Given the description of an element on the screen output the (x, y) to click on. 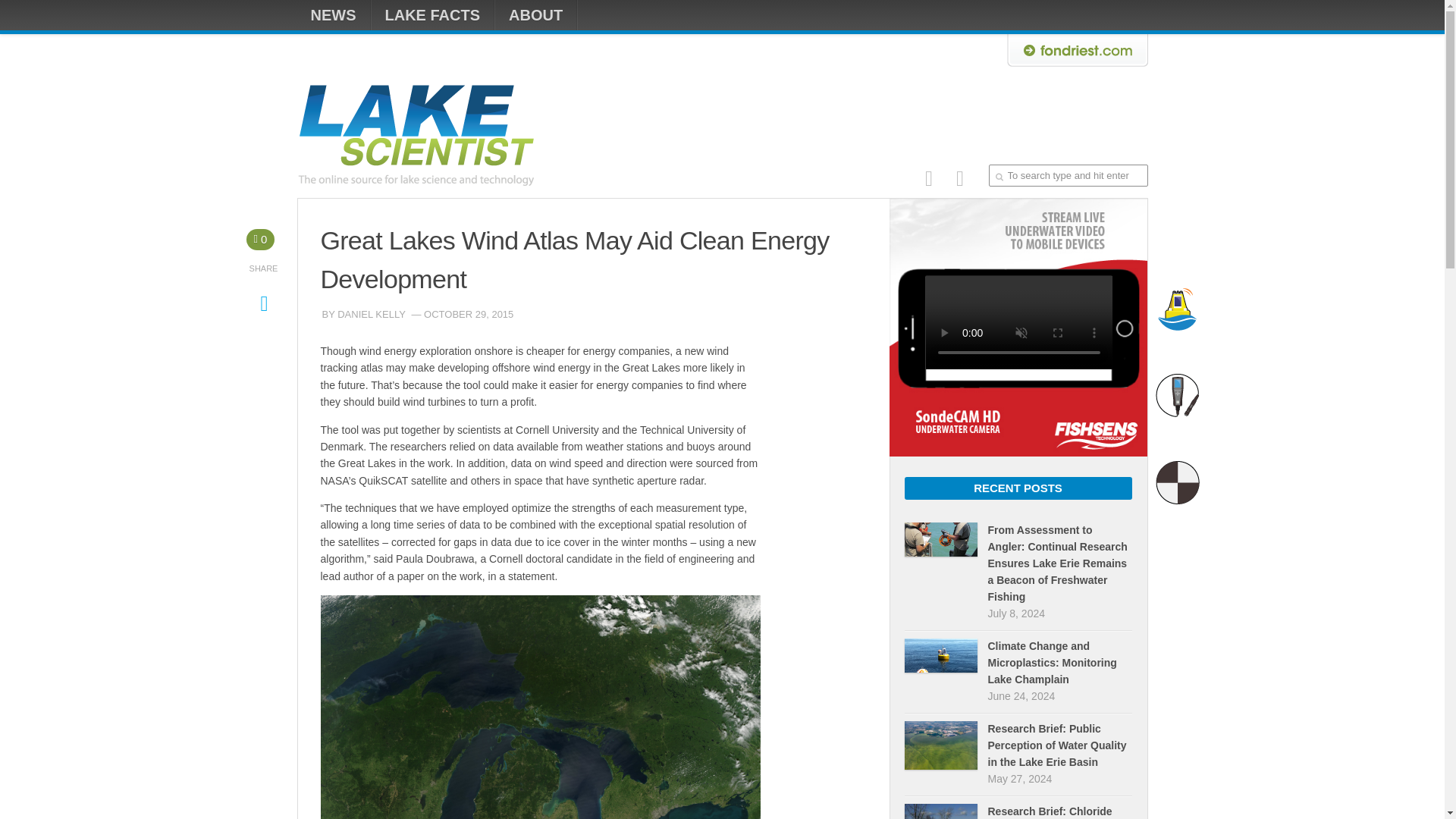
Lake Scientist Twitter (959, 178)
FishSens SondeCAM HD (1017, 452)
Sampling Equipment (1177, 483)
To search type and hit enter (1068, 175)
To search type and hit enter (1068, 175)
ABOUT (535, 15)
Lake Scientist Facebook (928, 178)
LAKE FACTS (433, 15)
NEWS (333, 15)
Water Quality Meters (1177, 395)
0 (260, 239)
Data Buoys (1177, 308)
